Given the description of an element on the screen output the (x, y) to click on. 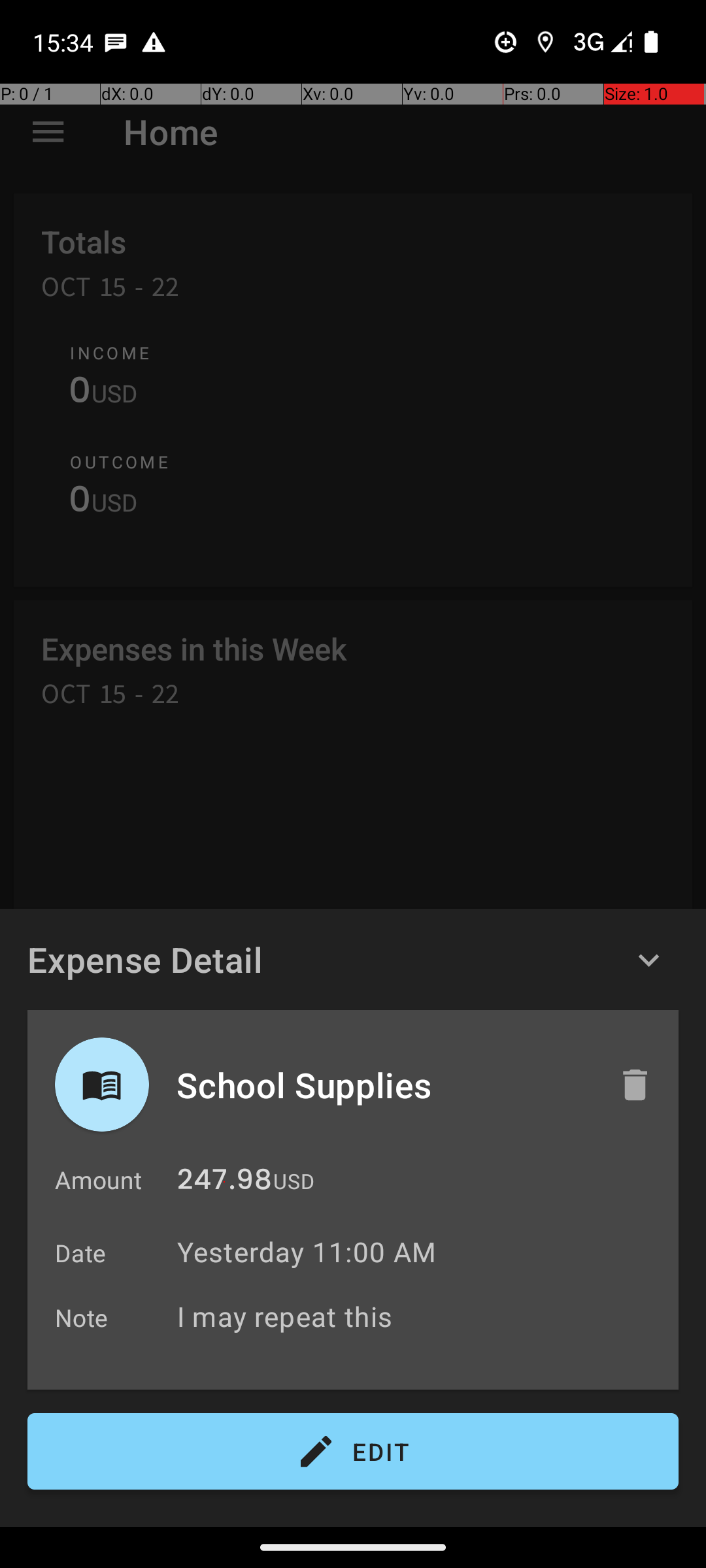
School Supplies Element type: android.widget.TextView (383, 1084)
247.98 Element type: android.widget.TextView (224, 1182)
Yesterday 11:00 AM Element type: android.widget.TextView (306, 1251)
I may repeat this Element type: android.widget.TextView (420, 1315)
